Given the description of an element on the screen output the (x, y) to click on. 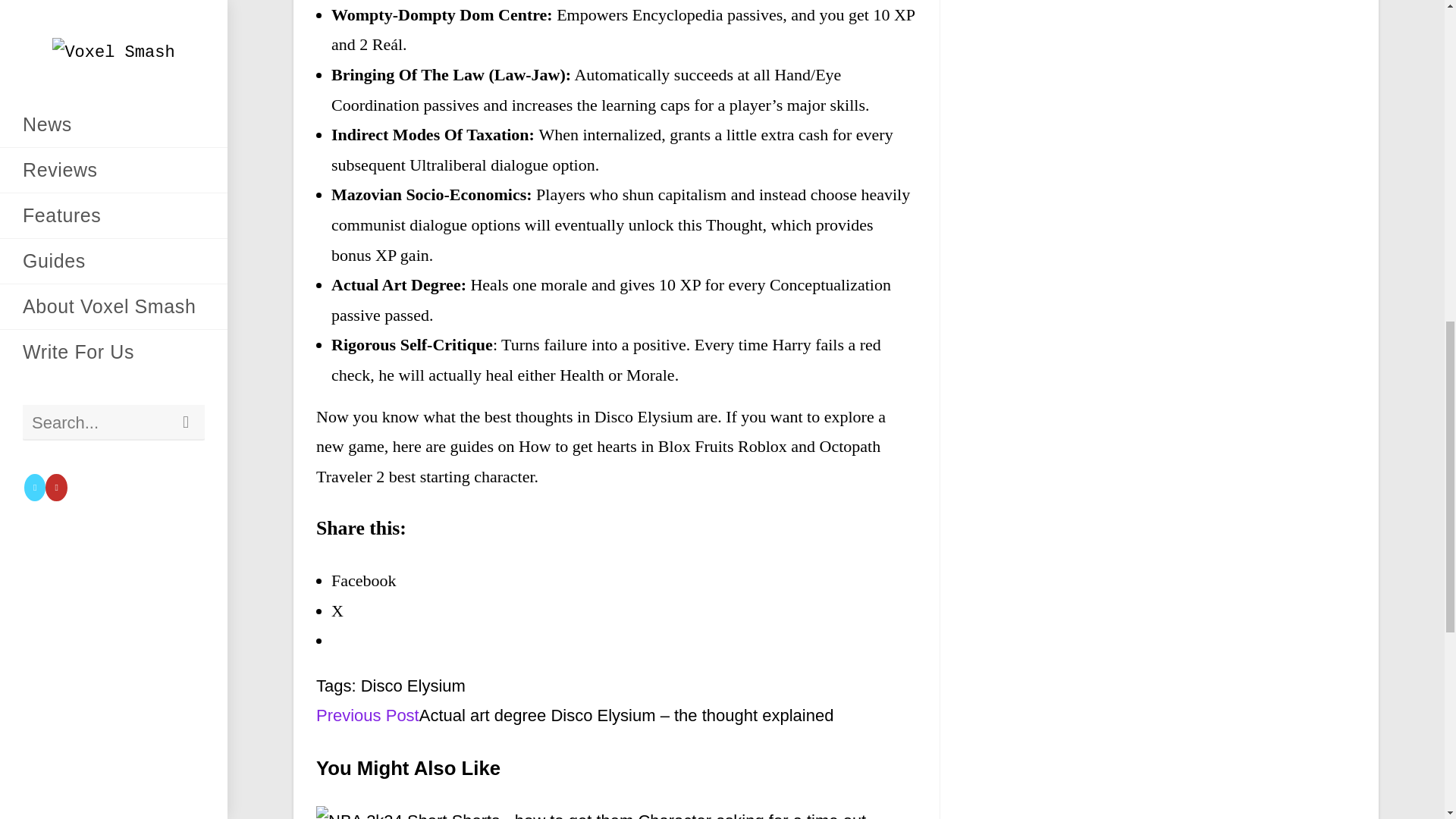
Disco Elysium (413, 685)
How to get hearts in Blox Fruits Roblox (652, 445)
Click to share on Facebook (363, 579)
Facebook (363, 579)
Octopath Traveler 2 best starting character (597, 461)
